Given the description of an element on the screen output the (x, y) to click on. 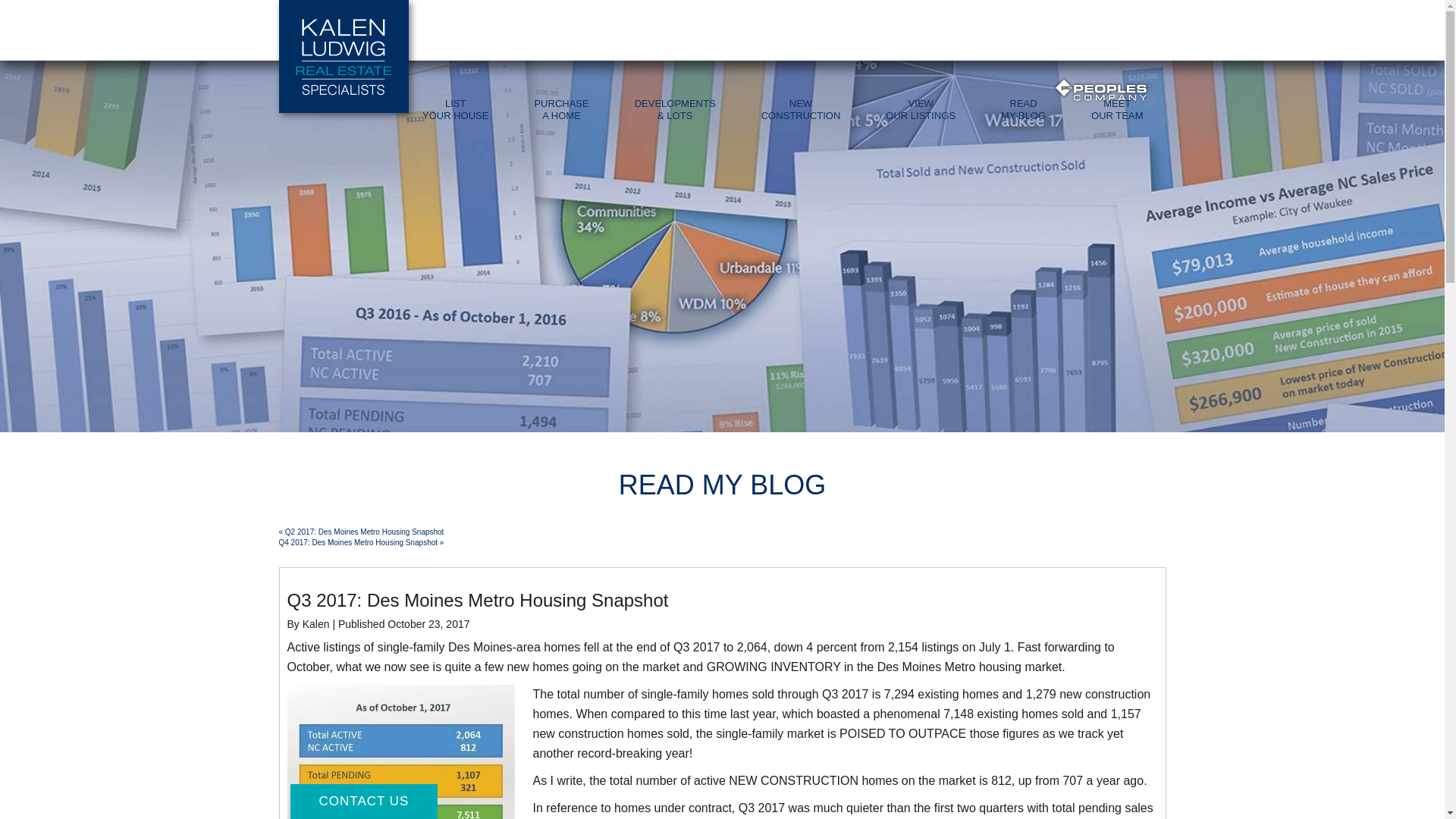
CONTACT US (560, 109)
